Given the description of an element on the screen output the (x, y) to click on. 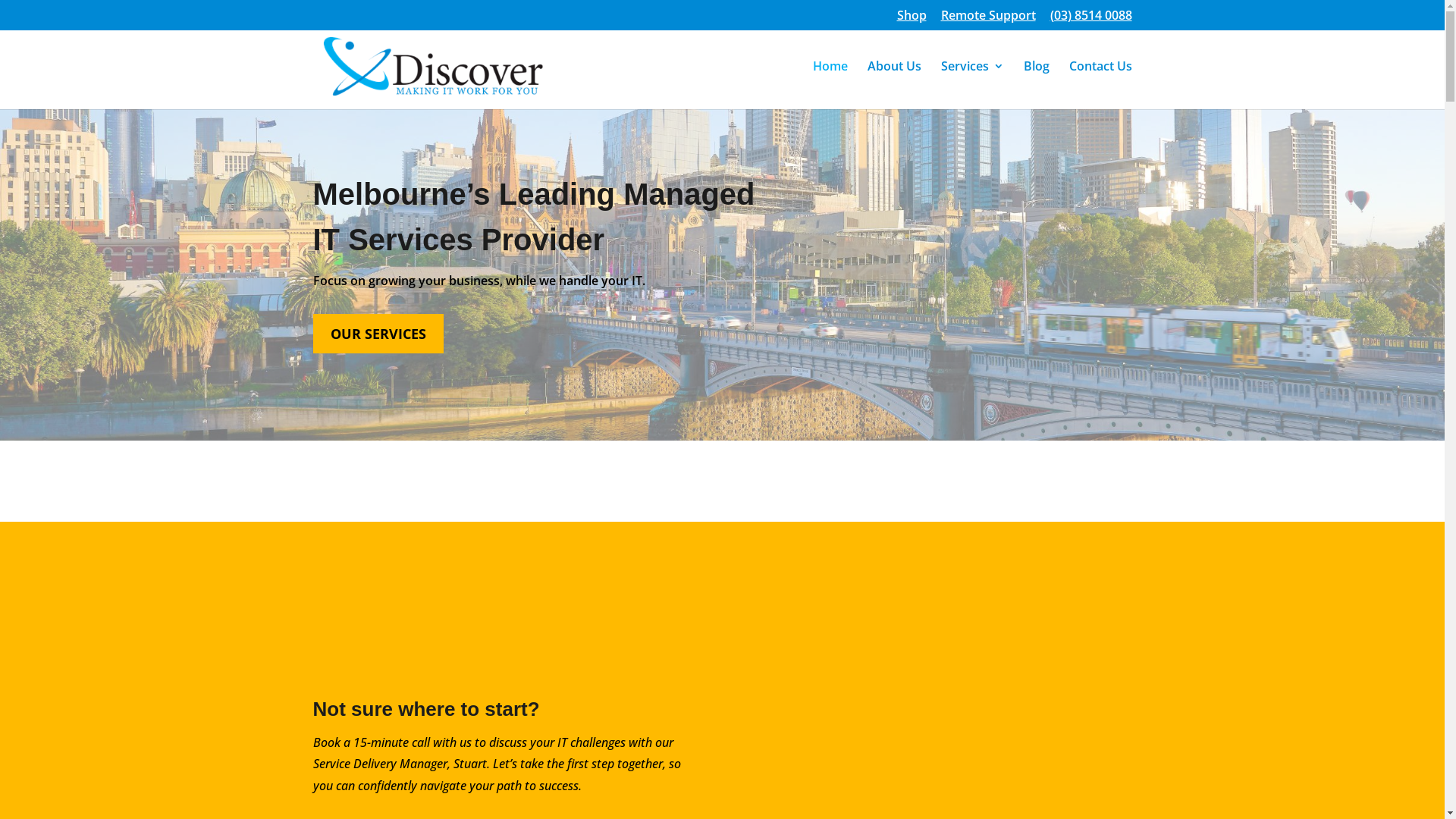
Home Element type: text (829, 84)
Remote Support Element type: text (987, 19)
Shop Element type: text (910, 19)
(03) 8514 0088 Element type: text (1090, 19)
Contact Us Element type: text (1100, 84)
About Us Element type: text (894, 84)
Services Element type: text (971, 84)
Blog Element type: text (1036, 84)
OUR SERVICES Element type: text (377, 332)
